Given the description of an element on the screen output the (x, y) to click on. 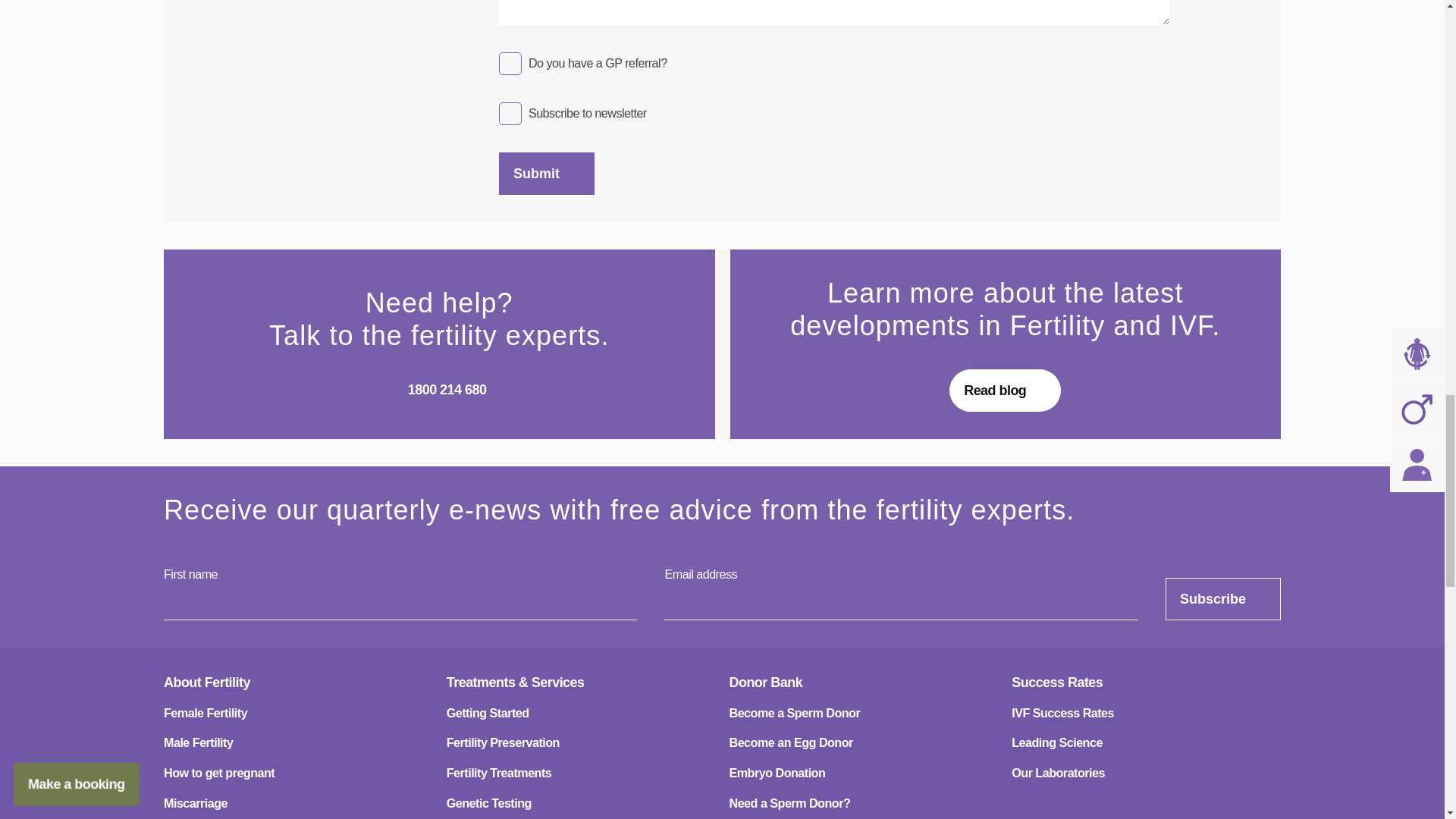
1 (510, 112)
1 (510, 62)
